Given the description of an element on the screen output the (x, y) to click on. 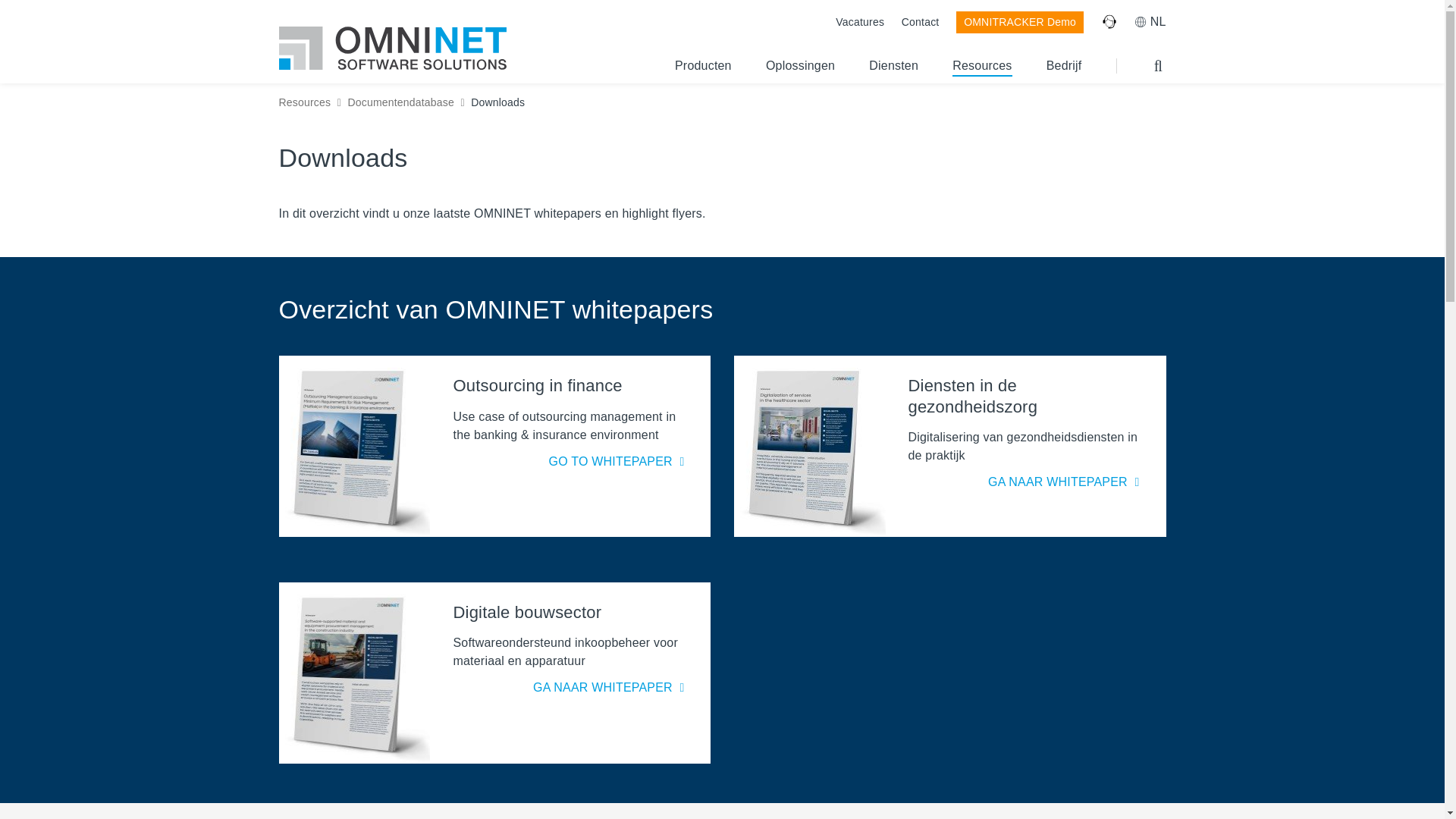
Whitepaper Bouwsector (609, 687)
Producten (703, 71)
Contact (920, 21)
Whitepaper Gezondheidszorg (1065, 481)
Vacatures (859, 21)
NL (1150, 21)
Verander taal (1150, 21)
Begin met zoeken (1158, 65)
OMNITRACKER Demo (1019, 22)
OMNINET Support Portal (1109, 21)
